Given the description of an element on the screen output the (x, y) to click on. 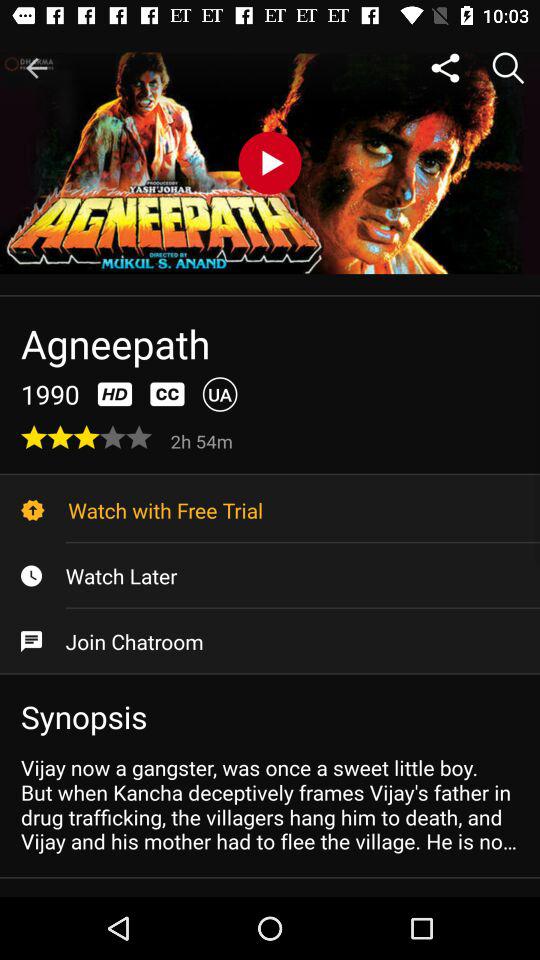
scroll to vijay now a (270, 804)
